Given the description of an element on the screen output the (x, y) to click on. 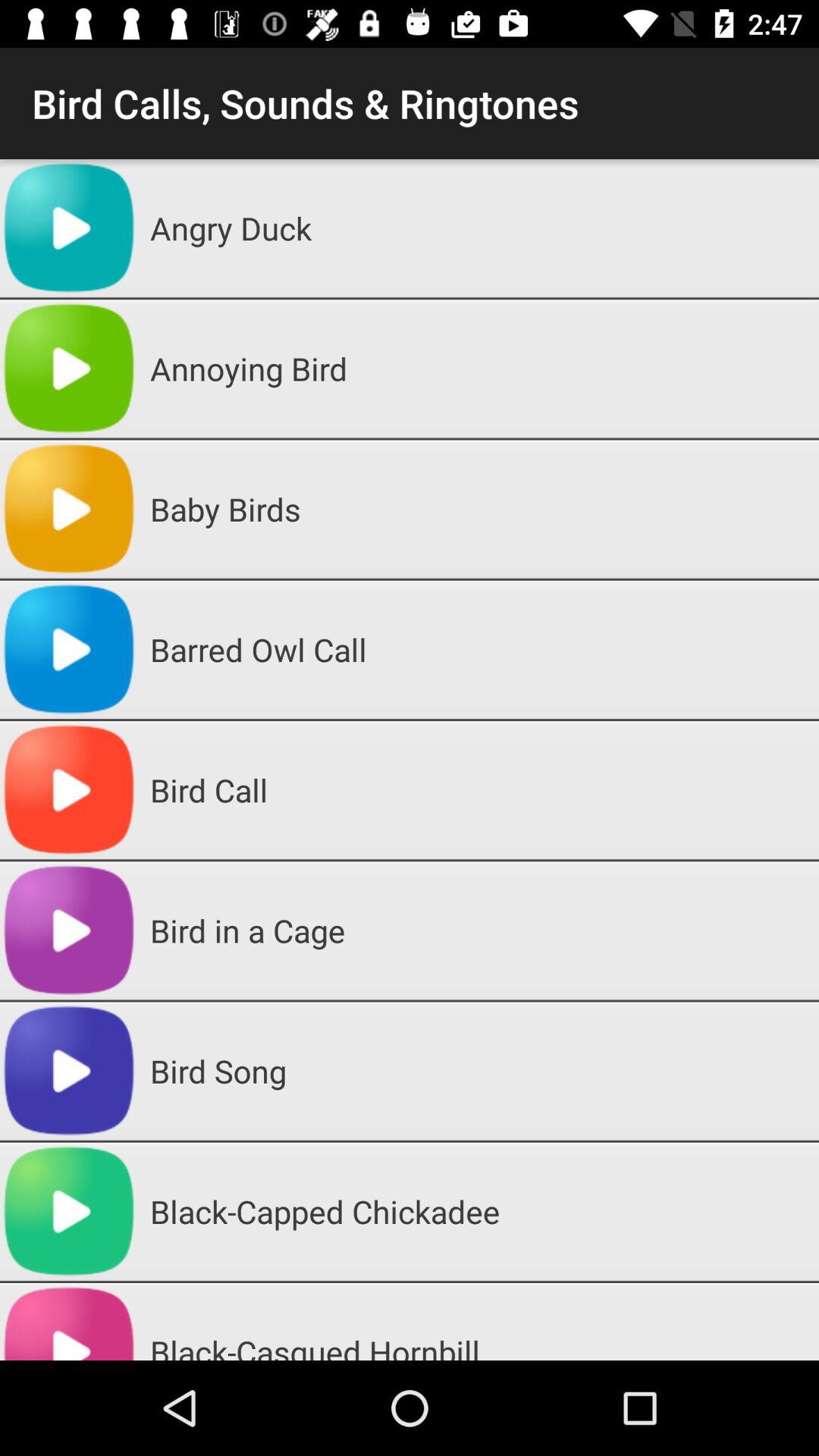
open angry duck (478, 228)
